Given the description of an element on the screen output the (x, y) to click on. 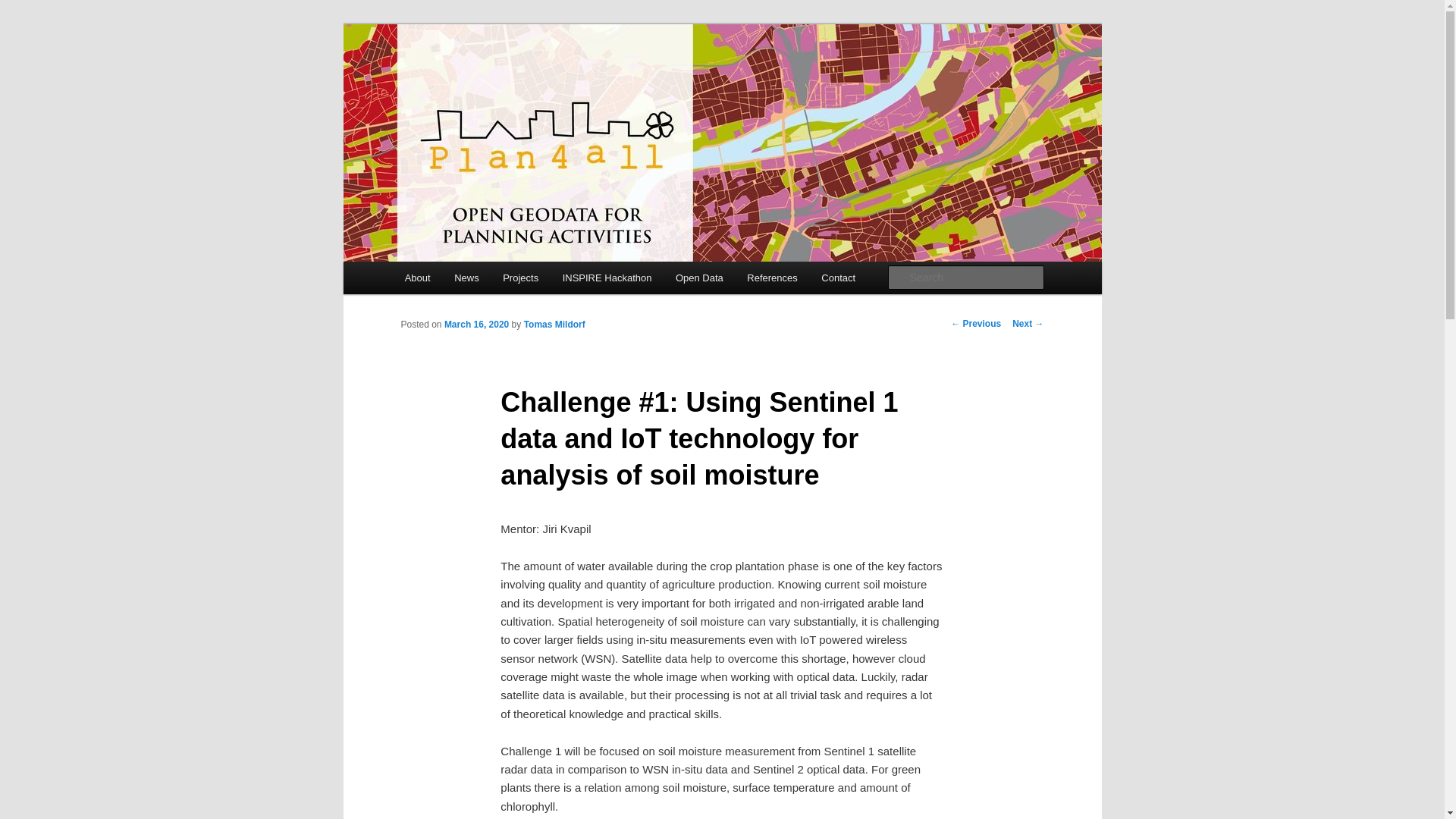
About (417, 277)
Search (24, 8)
INSPIRE Hackathon (606, 277)
News (466, 277)
Projects (520, 277)
Plan4all (443, 78)
